Given the description of an element on the screen output the (x, y) to click on. 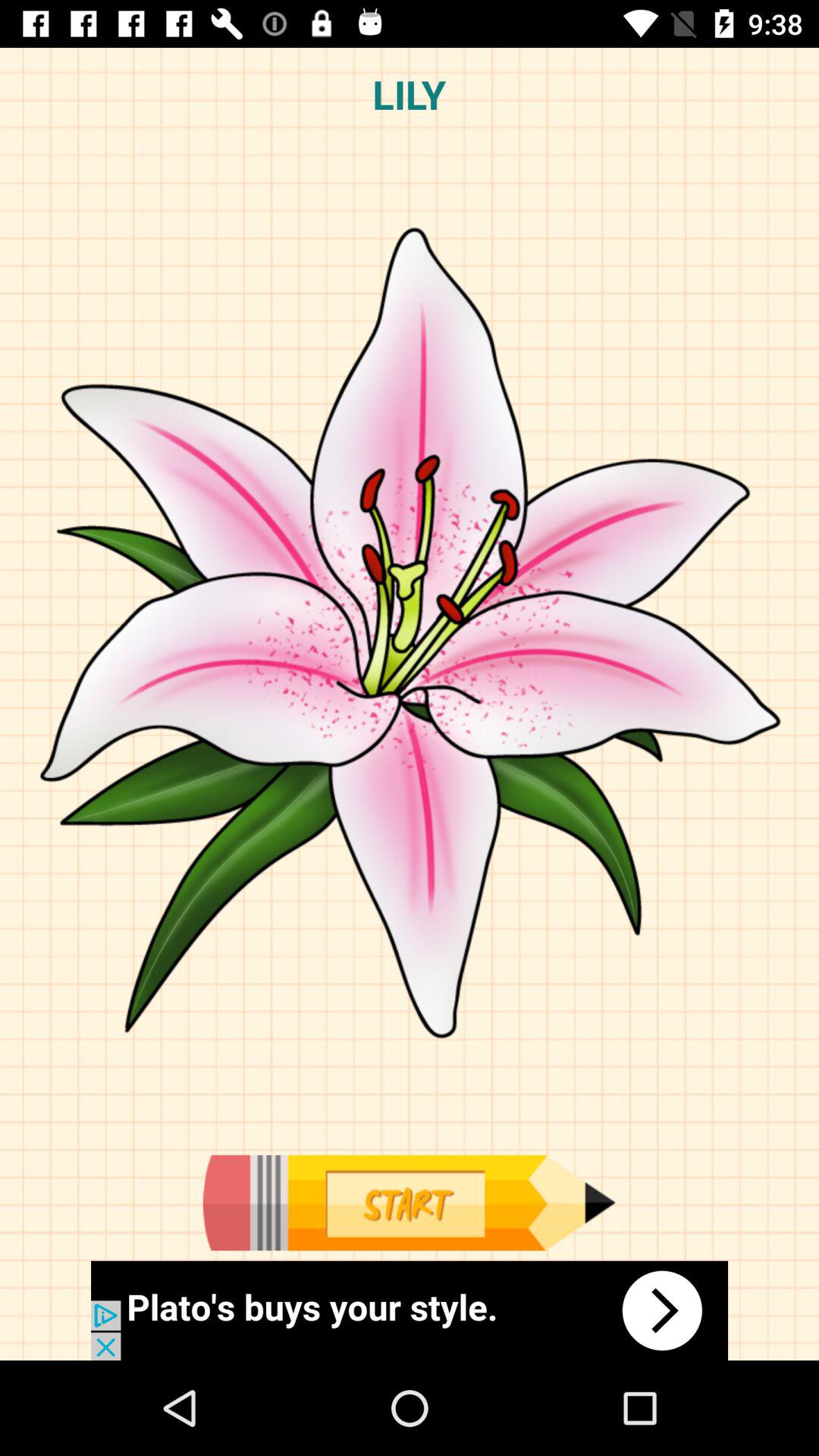
start game (409, 1202)
